Given the description of an element on the screen output the (x, y) to click on. 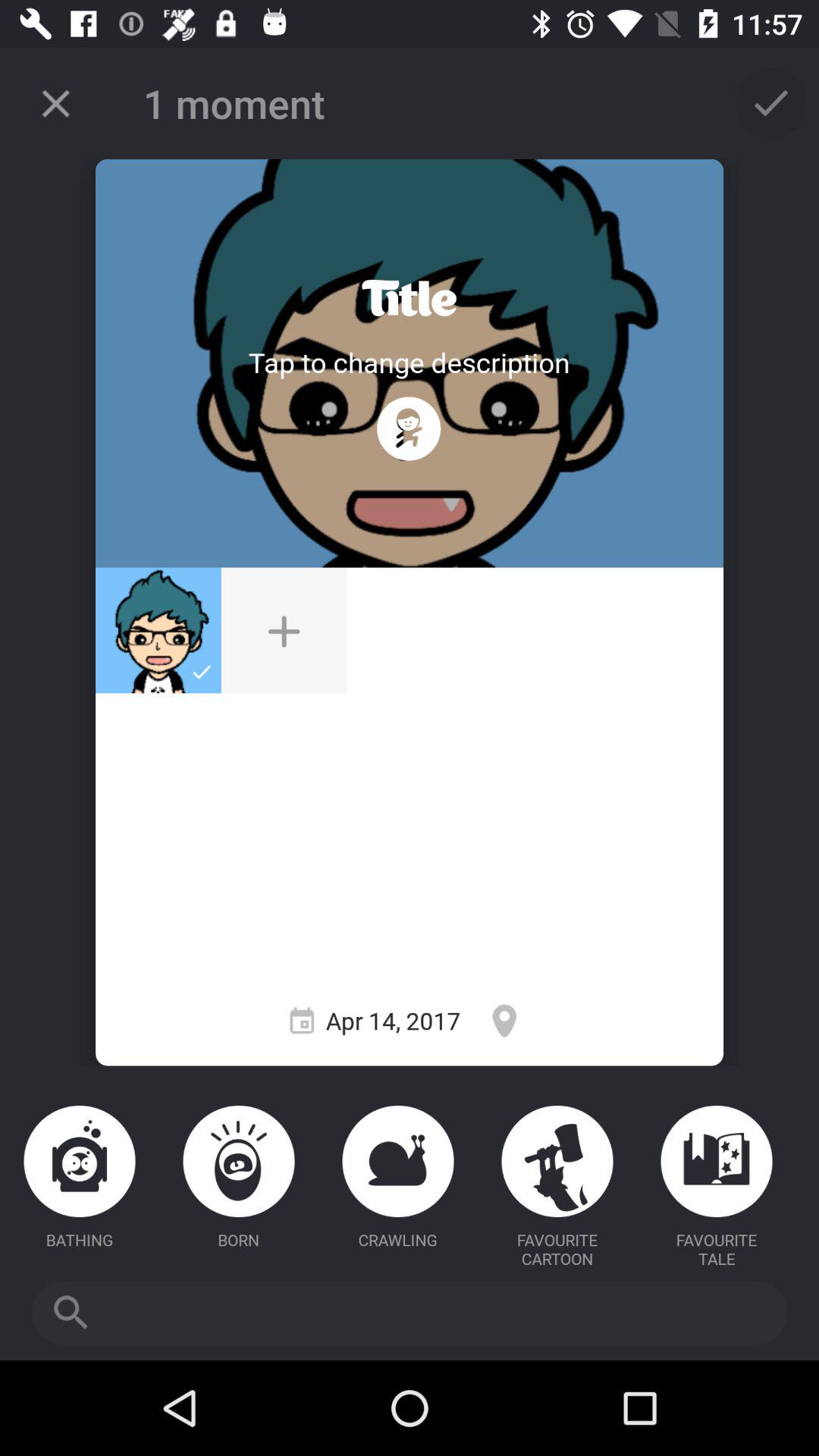
change description (408, 362)
